Given the description of an element on the screen output the (x, y) to click on. 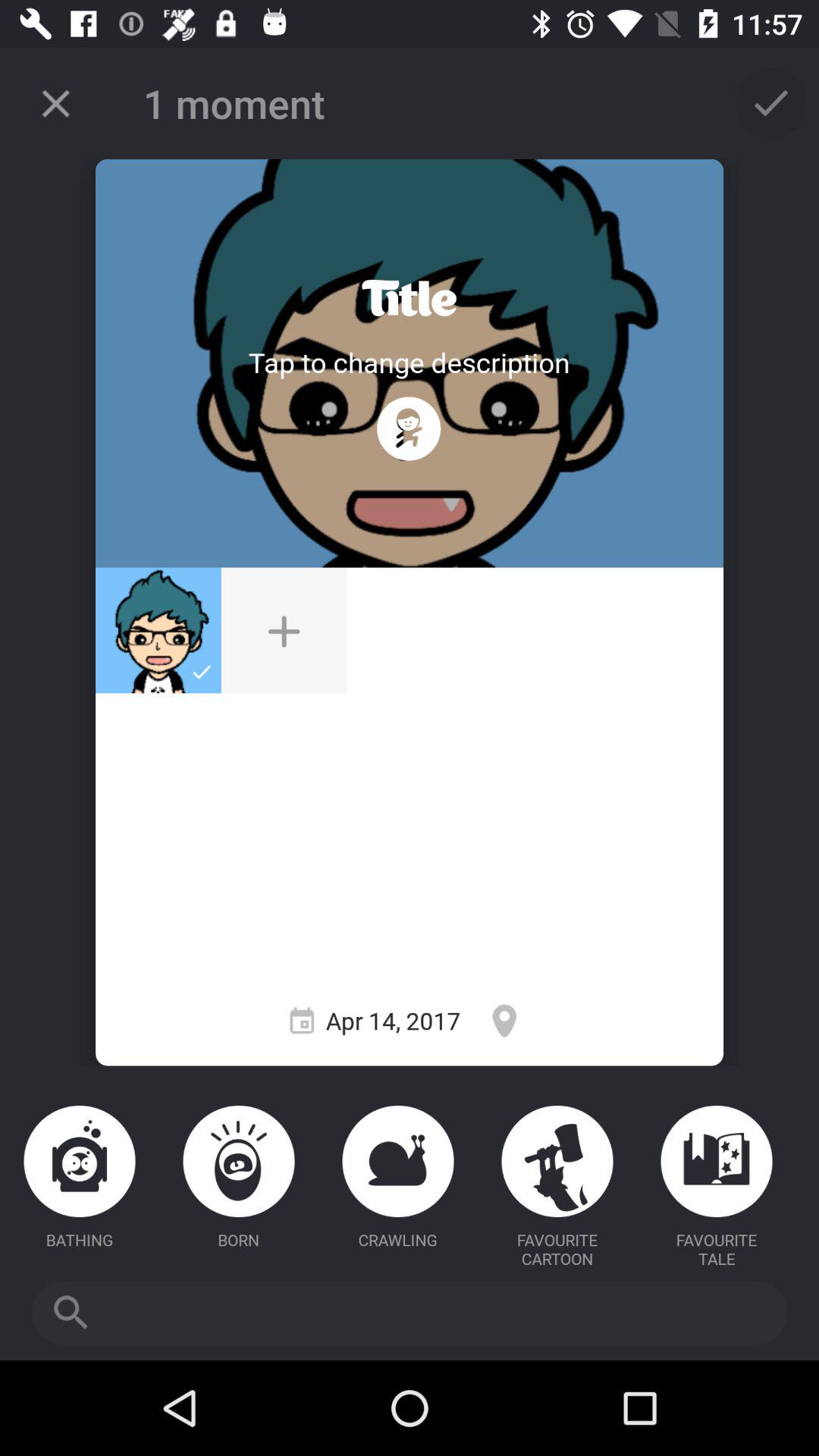
change description (408, 362)
